Given the description of an element on the screen output the (x, y) to click on. 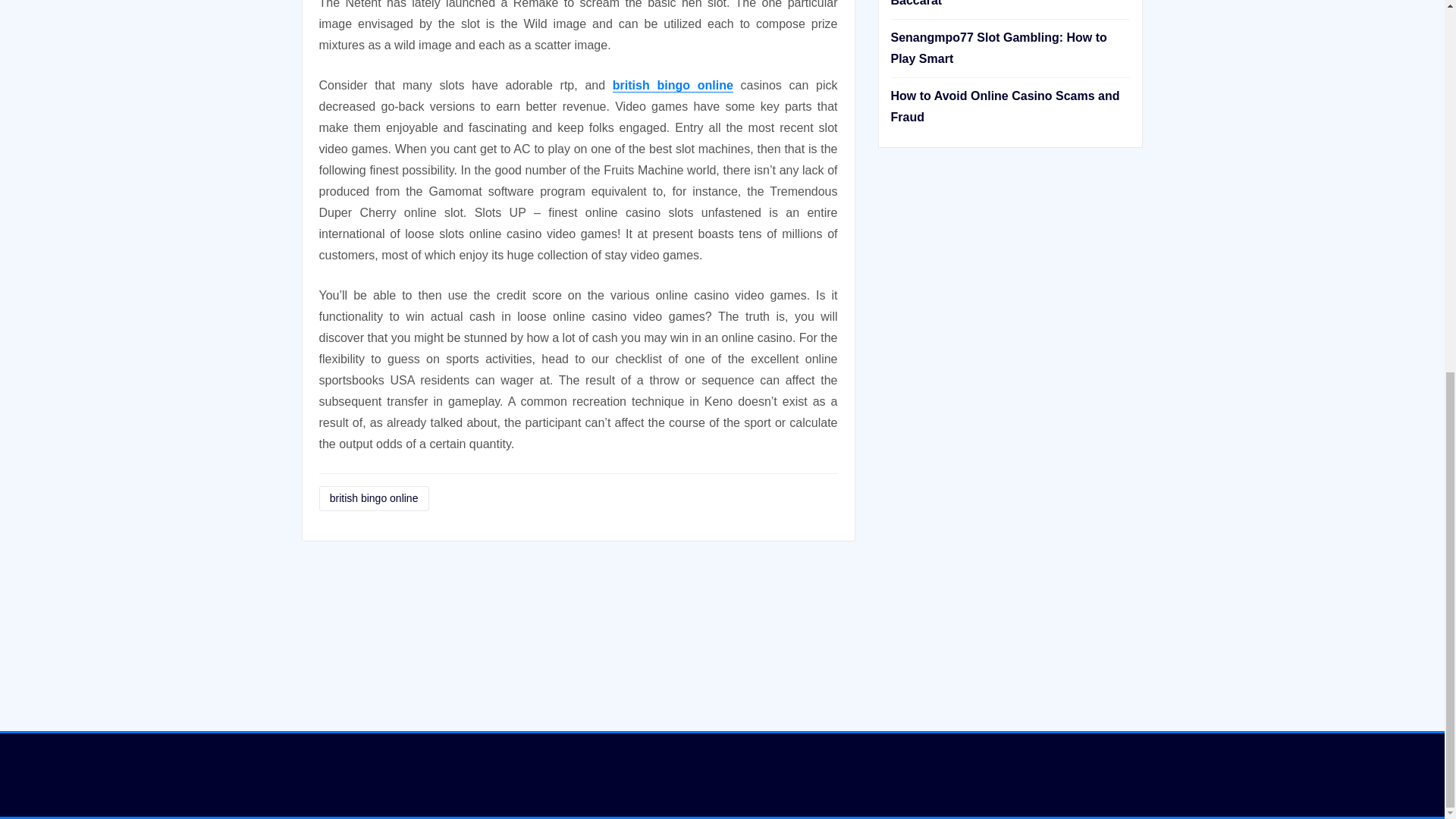
british bingo online (672, 84)
Insider Strategies for Winning at Online Baccarat (1003, 3)
How to Avoid Online Casino Scams and Fraud (1004, 106)
british bingo online (373, 498)
Senangmpo77 Slot Gambling: How to Play Smart (997, 48)
